Given the description of an element on the screen output the (x, y) to click on. 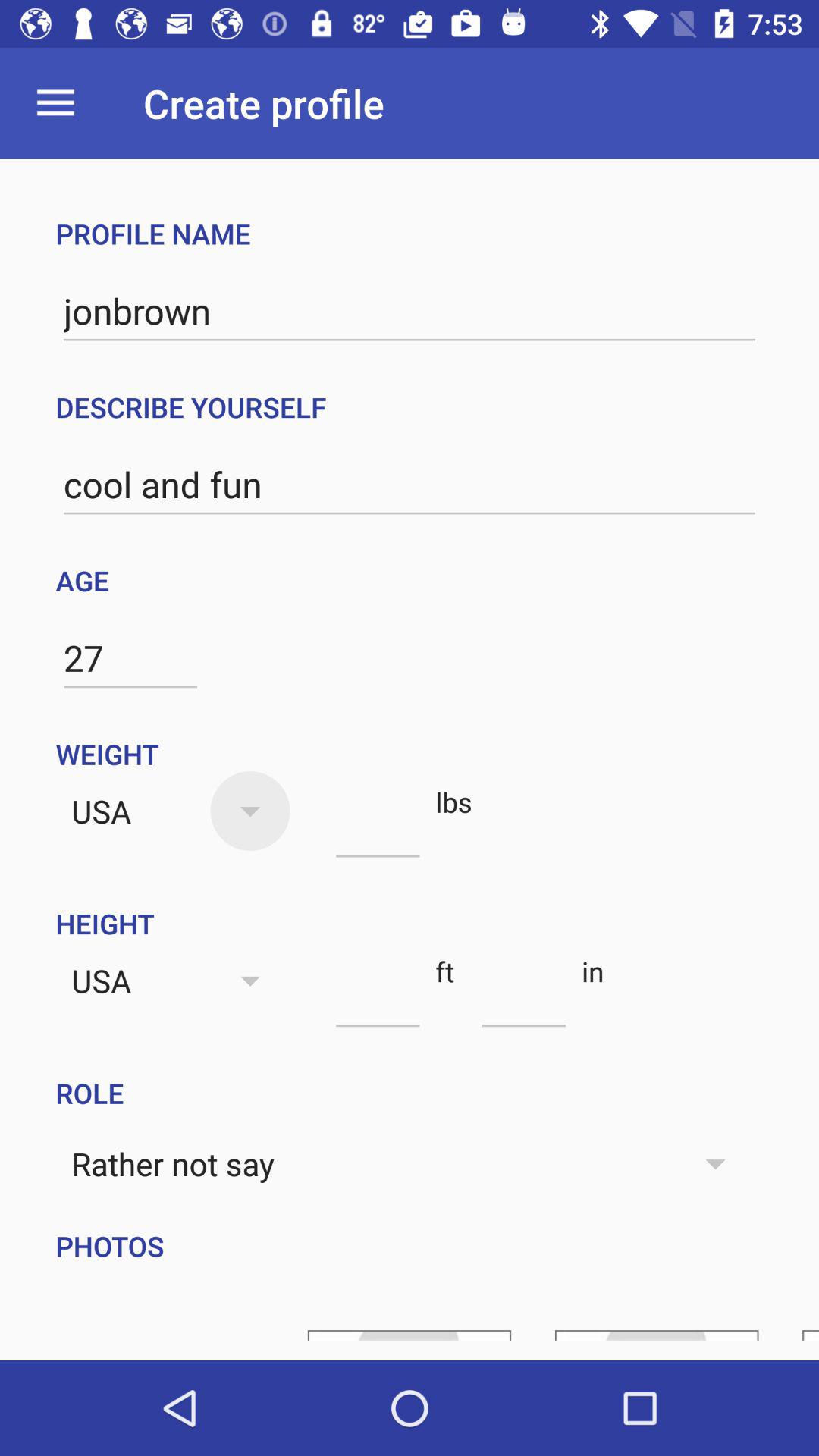
select the item below weight item (377, 830)
